Given the description of an element on the screen output the (x, y) to click on. 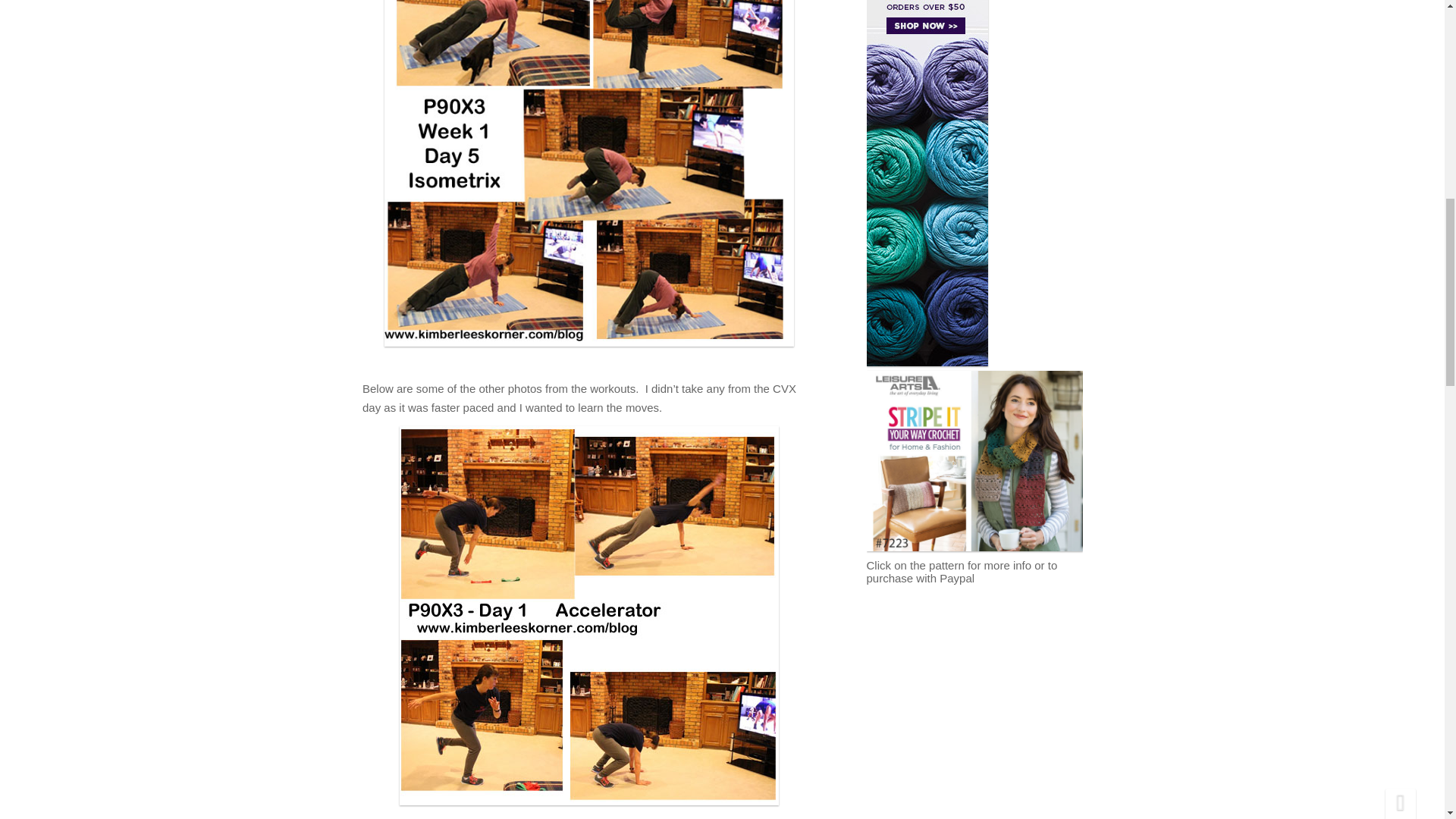
2 Comments (601, 4)
kimberlee (563, 58)
